Given the description of an element on the screen output the (x, y) to click on. 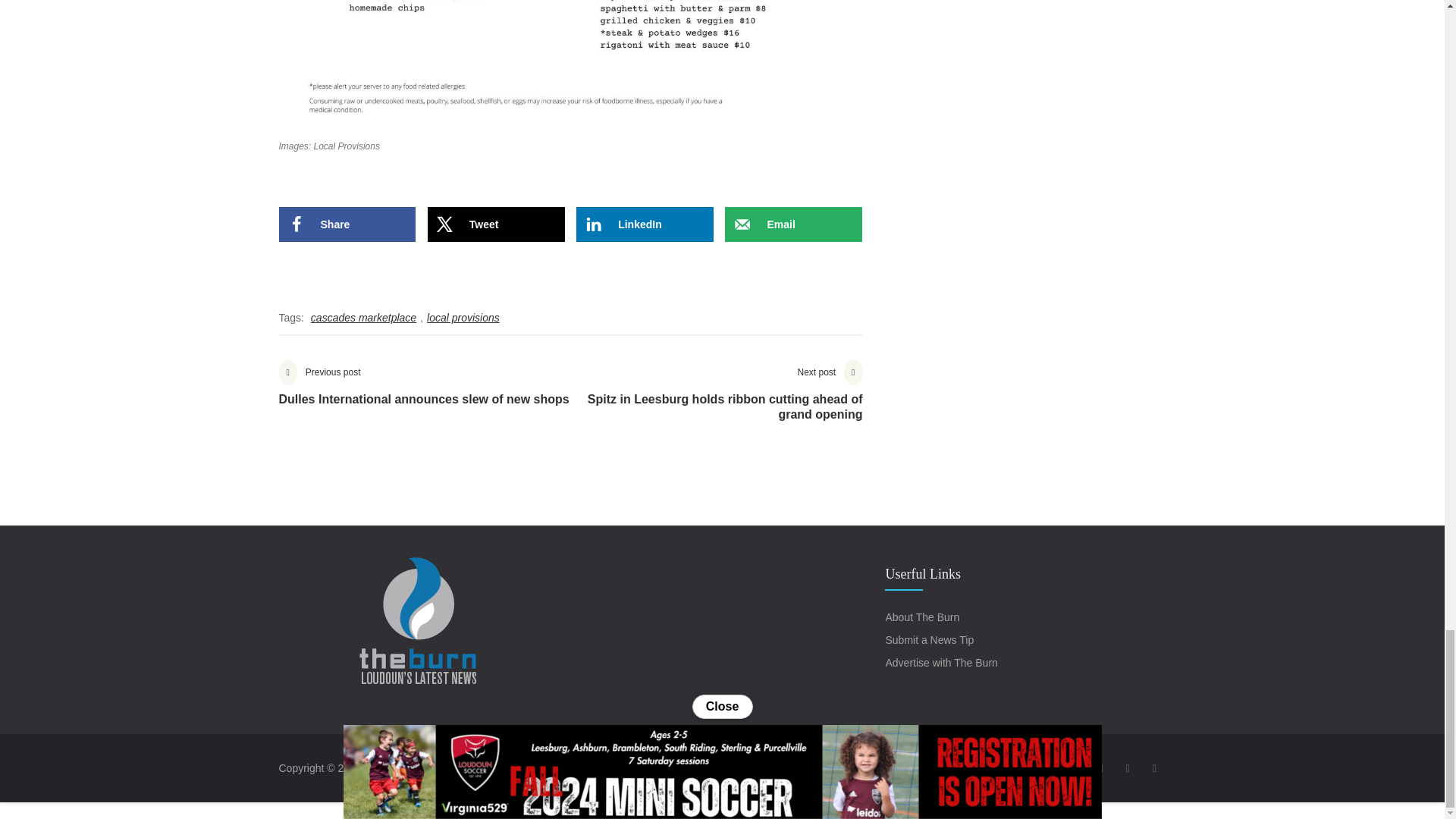
Tweet (496, 224)
prev post (424, 394)
Share on X (496, 224)
Share on Facebook (347, 224)
LinkedIn (644, 224)
Share on LinkedIn (644, 224)
next post (715, 401)
Send over email (793, 224)
Share (347, 224)
Email (793, 224)
